Given the description of an element on the screen output the (x, y) to click on. 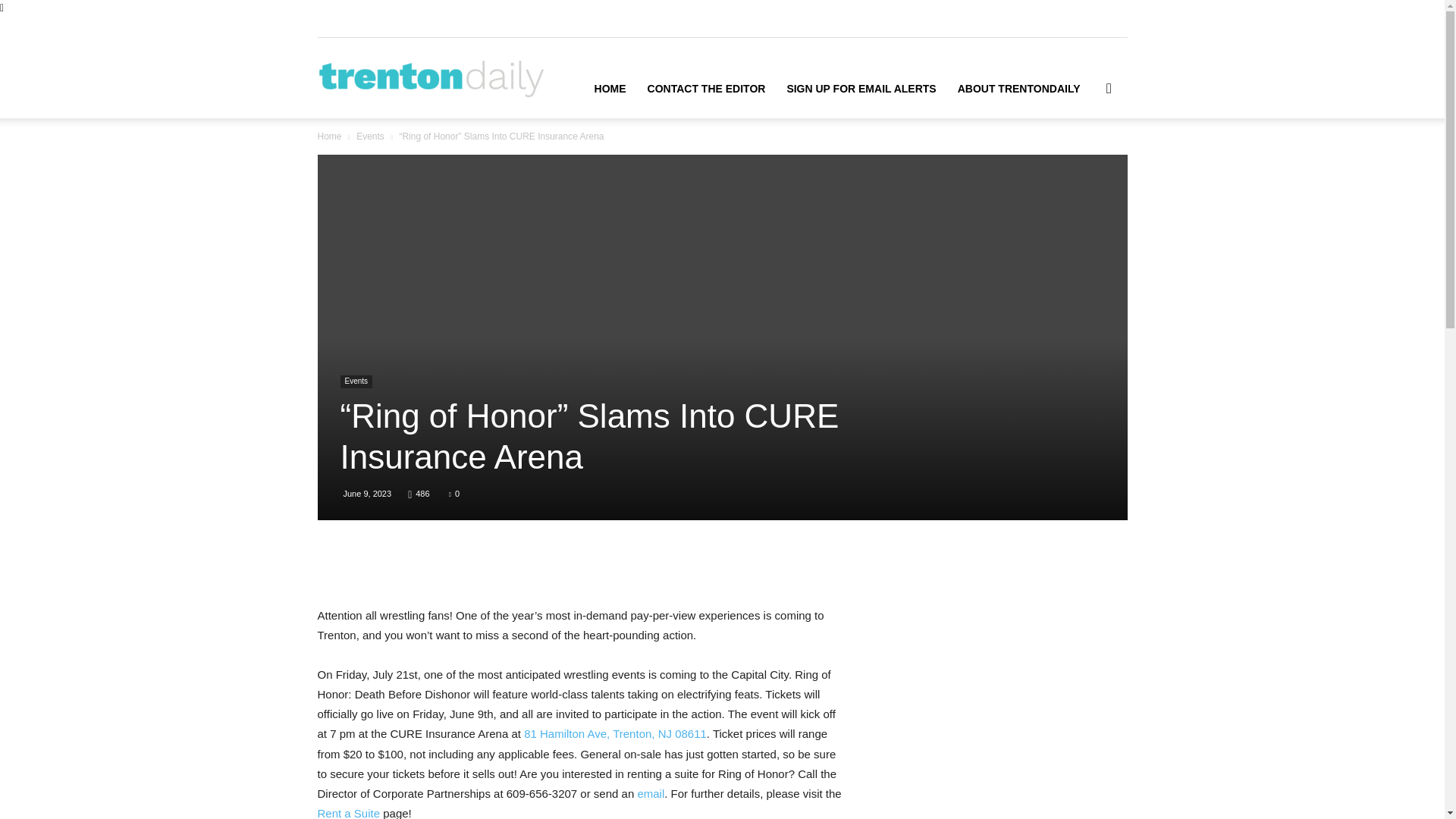
TrentonDaily (430, 78)
HOME (610, 87)
Rent a Suite (348, 812)
Events (370, 136)
email (650, 793)
81 Hamilton Ave, Trenton, NJ 08611 (615, 733)
Home (328, 136)
View all posts in Events (370, 136)
SIGN UP FOR EMAIL ALERTS (861, 87)
Search (1085, 160)
